Given the description of an element on the screen output the (x, y) to click on. 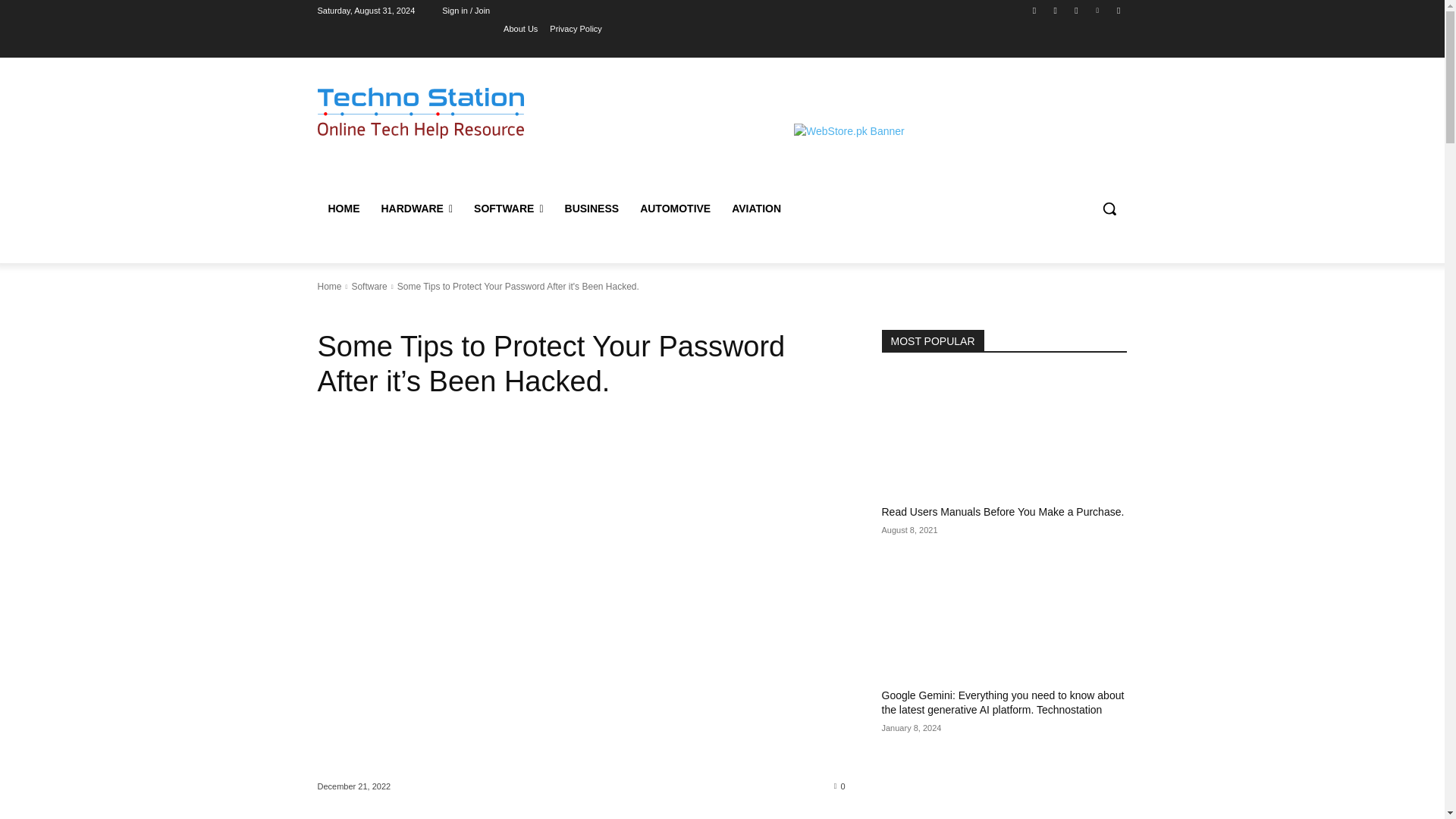
Privacy Policy (575, 28)
Instagram (1055, 9)
View all posts in Software (368, 286)
About Us (520, 28)
Vimeo (1097, 9)
HOME (343, 208)
Youtube (1117, 9)
HARDWARE (416, 208)
Online Tech Help Recource! (419, 112)
Facebook (1034, 9)
